Given the description of an element on the screen output the (x, y) to click on. 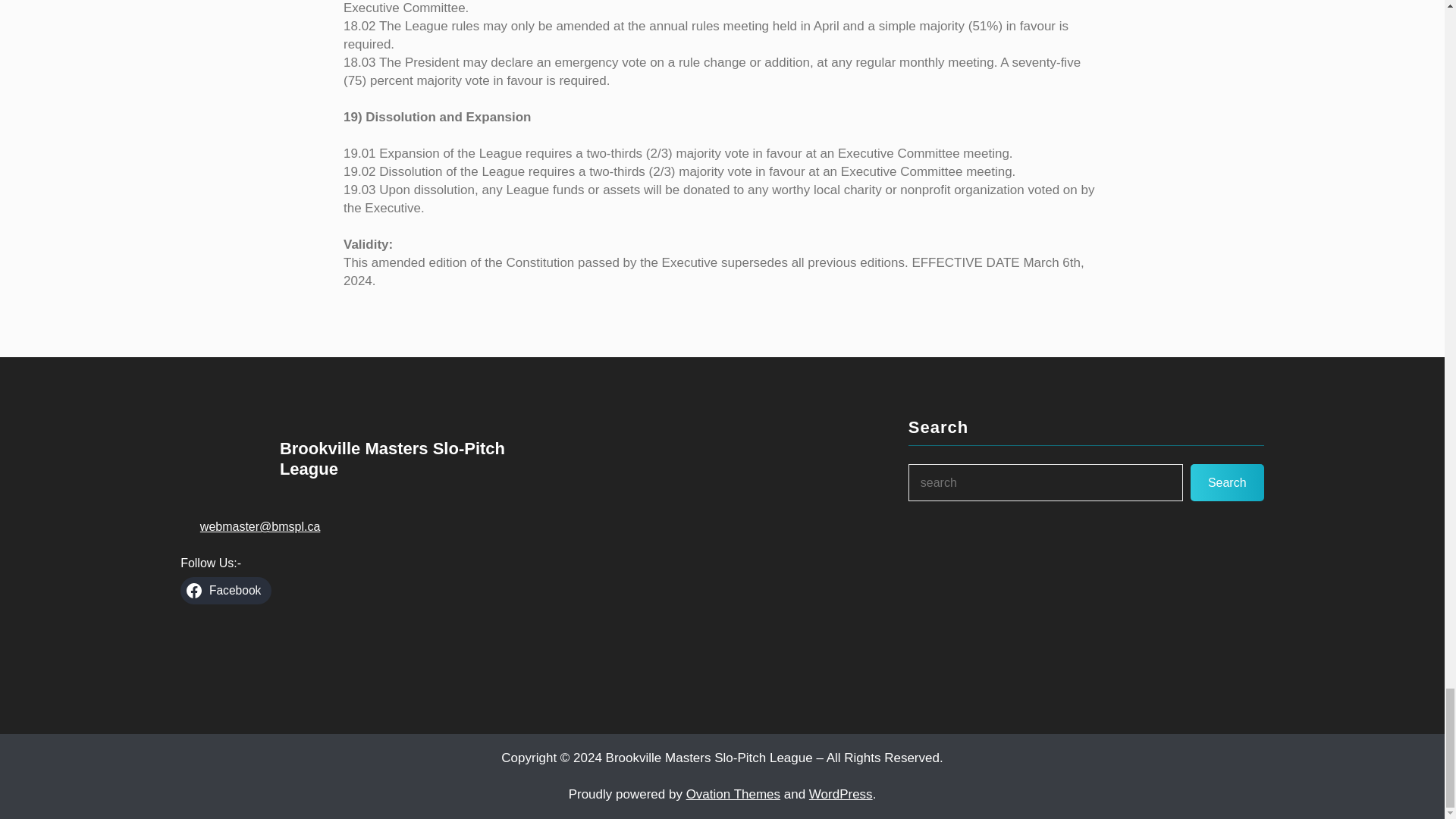
WordPress (840, 794)
Ovation Themes (732, 794)
Search (1227, 482)
Brookville Masters Slo-Pitch League (392, 457)
Facebook (225, 590)
